Given the description of an element on the screen output the (x, y) to click on. 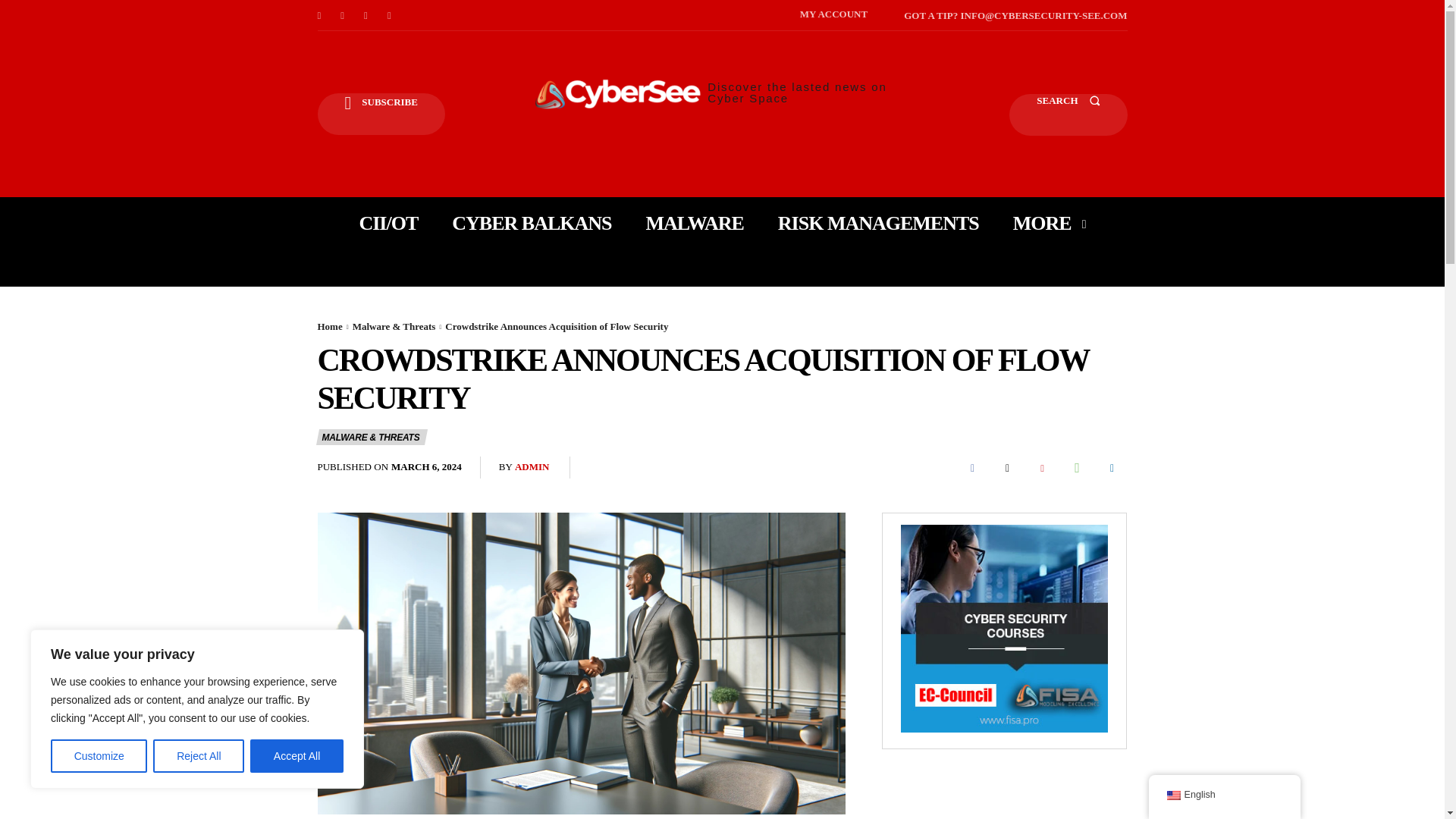
Facebook (318, 15)
TikTok (366, 15)
Subscribe (380, 114)
Instagram (342, 15)
Customize (98, 756)
Accept All (296, 756)
Twitter (389, 15)
Reject All (198, 756)
Search (1067, 114)
